Given the description of an element on the screen output the (x, y) to click on. 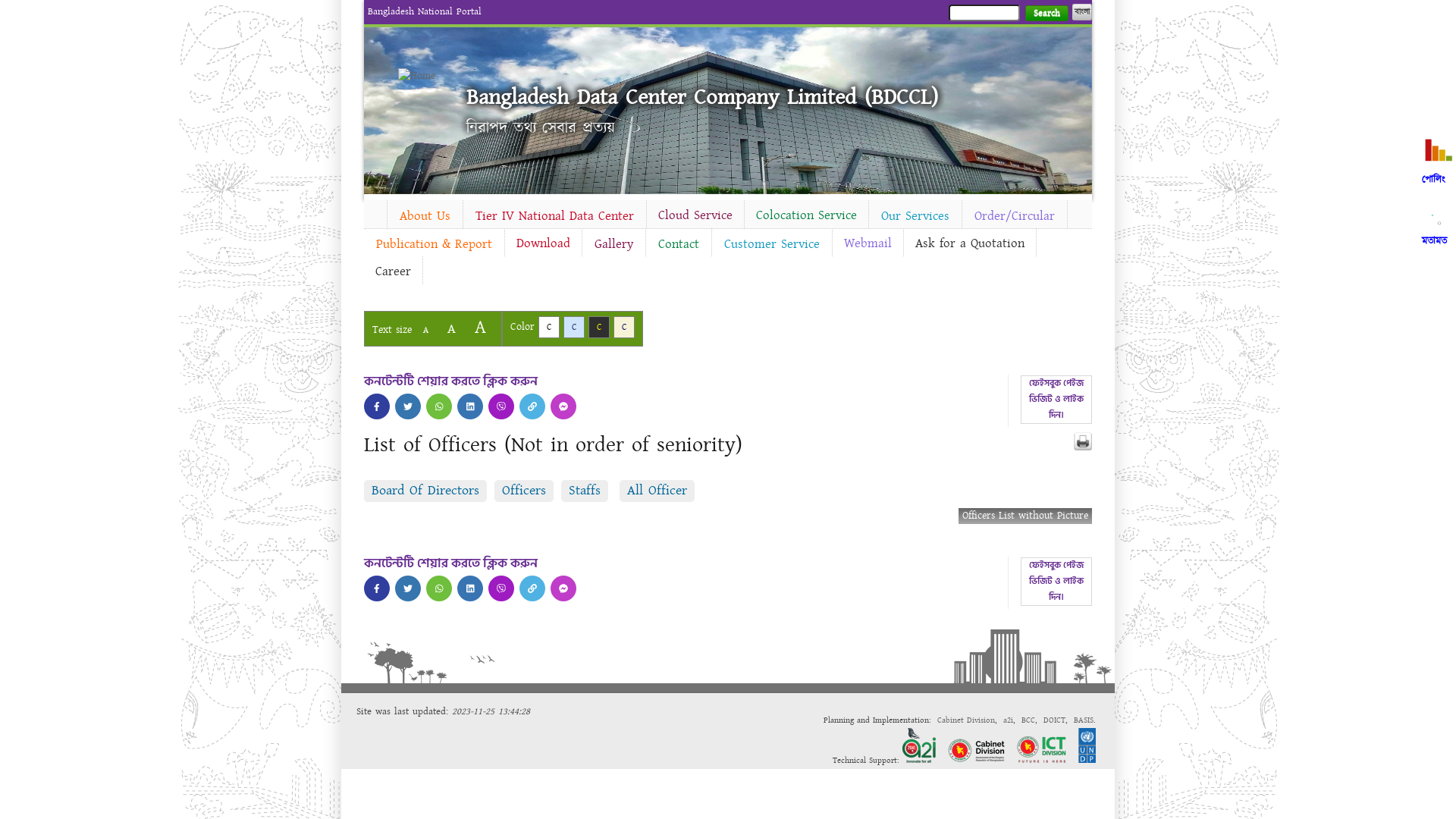
Order/Circular Element type: text (1014, 216)
Publication & Report Element type: text (434, 244)
Contact Element type: text (678, 244)
C Element type: text (573, 327)
Colocation Service Element type: text (806, 215)
Ask for a Quotation Element type: text (969, 243)
Webmail Element type: text (867, 243)
Home Element type: hover (375, 211)
Officers Element type: text (524, 490)
Home Element type: hover (424, 76)
C Element type: text (548, 327)
Tier IV National Data Center Element type: text (554, 216)
Search Element type: text (1046, 13)
Bangladesh Data Center Company Limited (BDCCL) Element type: text (702, 96)
BCC Element type: text (1028, 719)
Officers List without Picture Element type: text (1025, 516)
A Element type: text (480, 327)
Cabinet Division Element type: text (965, 719)
All Officer Element type: text (657, 490)
About Us Element type: text (424, 216)
Staffs Element type: text (584, 490)
Customer Service Element type: text (771, 244)
C Element type: text (598, 327)
Career Element type: text (393, 271)
Cloud Service Element type: text (694, 215)
Our Services Element type: text (915, 216)
Gallery Element type: text (613, 244)
Board Of Directors Element type: text (425, 490)
Download Element type: text (543, 243)
BASIS Element type: text (1083, 719)
Bangladesh National Portal Element type: text (424, 11)
DOICT Element type: text (1054, 719)
A Element type: text (425, 330)
A Element type: text (451, 328)
a2i Element type: text (1008, 719)
C Element type: text (623, 327)
